Given the description of an element on the screen output the (x, y) to click on. 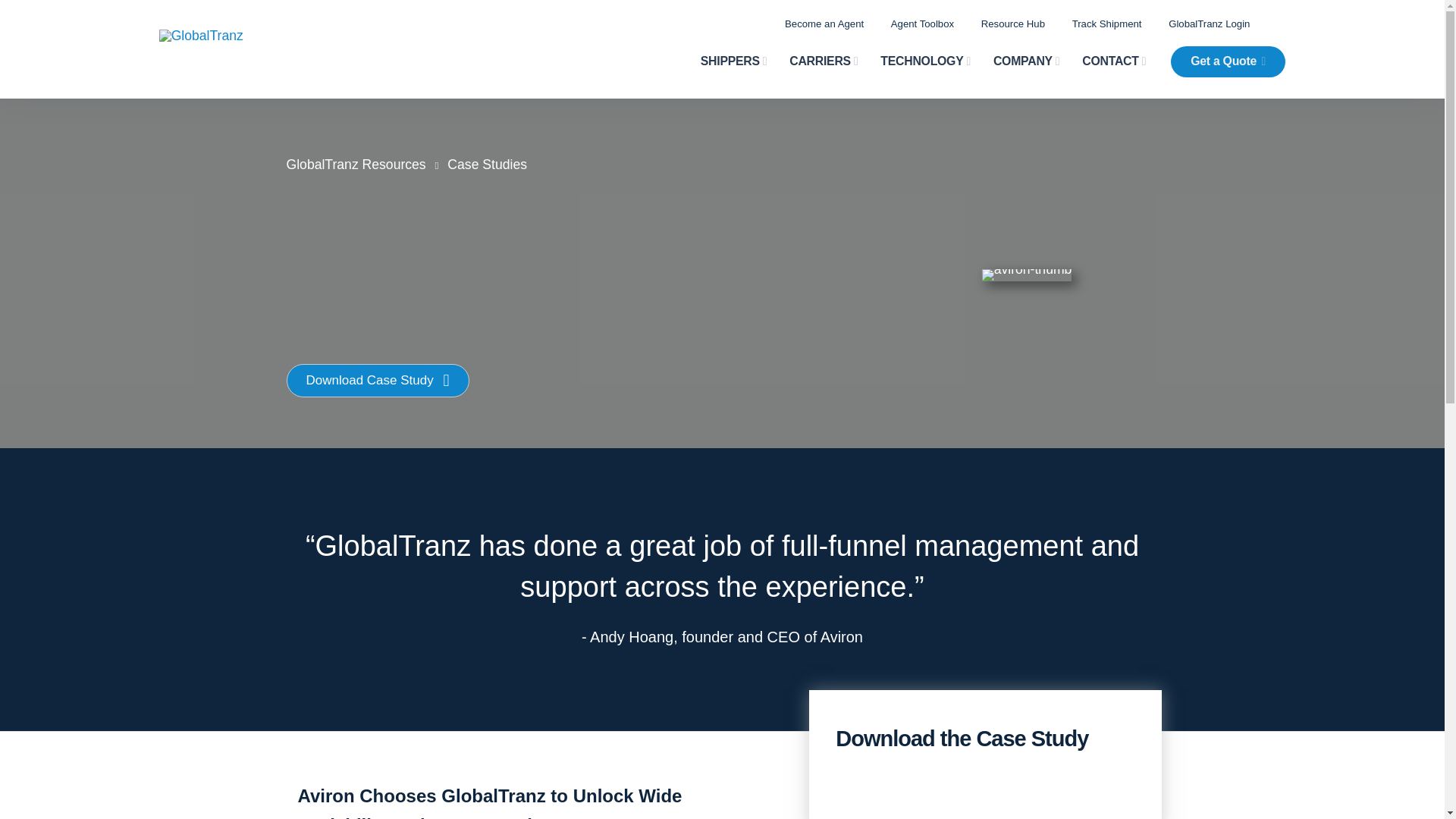
Navigate to the GlobalTranz website home page (266, 36)
GlobalTranz Login (1209, 23)
Resource Hub (1013, 23)
aviron-thumb (1026, 275)
Agent Toolbox (922, 23)
Become an Agent (823, 23)
Track Shipment (1106, 23)
